Given the description of an element on the screen output the (x, y) to click on. 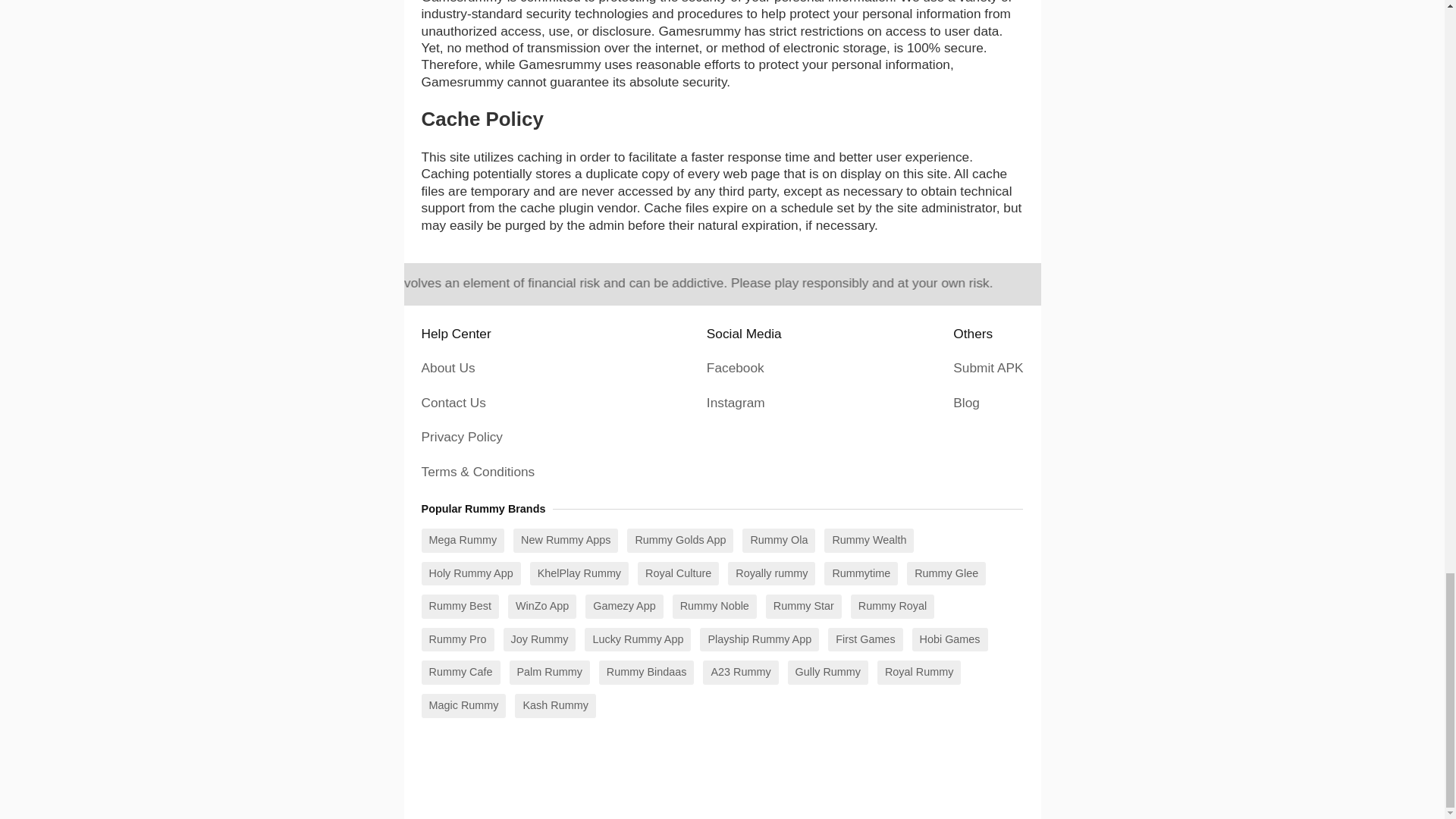
Mega Rummy (463, 540)
Contact Us (454, 402)
Holy Rummy App (471, 573)
New Rummy Apps (565, 540)
Rummy Royal (892, 606)
Rummytime (861, 573)
Rummy Ola (778, 540)
Submit APK (988, 367)
Blog (966, 402)
Rummy Noble (714, 606)
Rummy Star (803, 606)
Instagram (735, 402)
Rummy Pro (458, 639)
Privacy Policy (462, 436)
Facebook (735, 367)
